Given the description of an element on the screen output the (x, y) to click on. 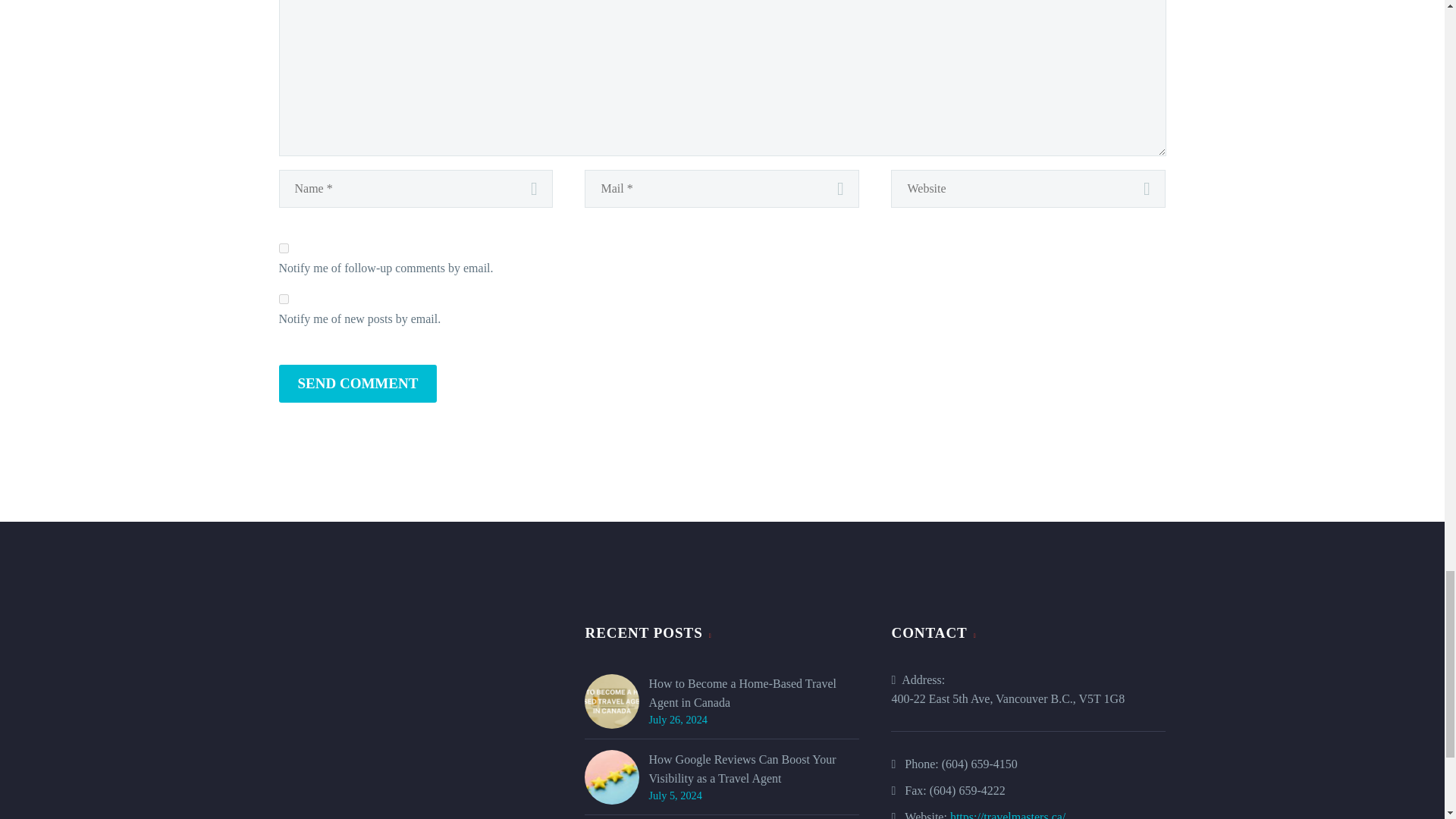
How to Become a Home-Based Travel Agent in Canada (753, 692)
subscribe (283, 298)
subscribe (283, 248)
SEND COMMENT (358, 383)
